Given the description of an element on the screen output the (x, y) to click on. 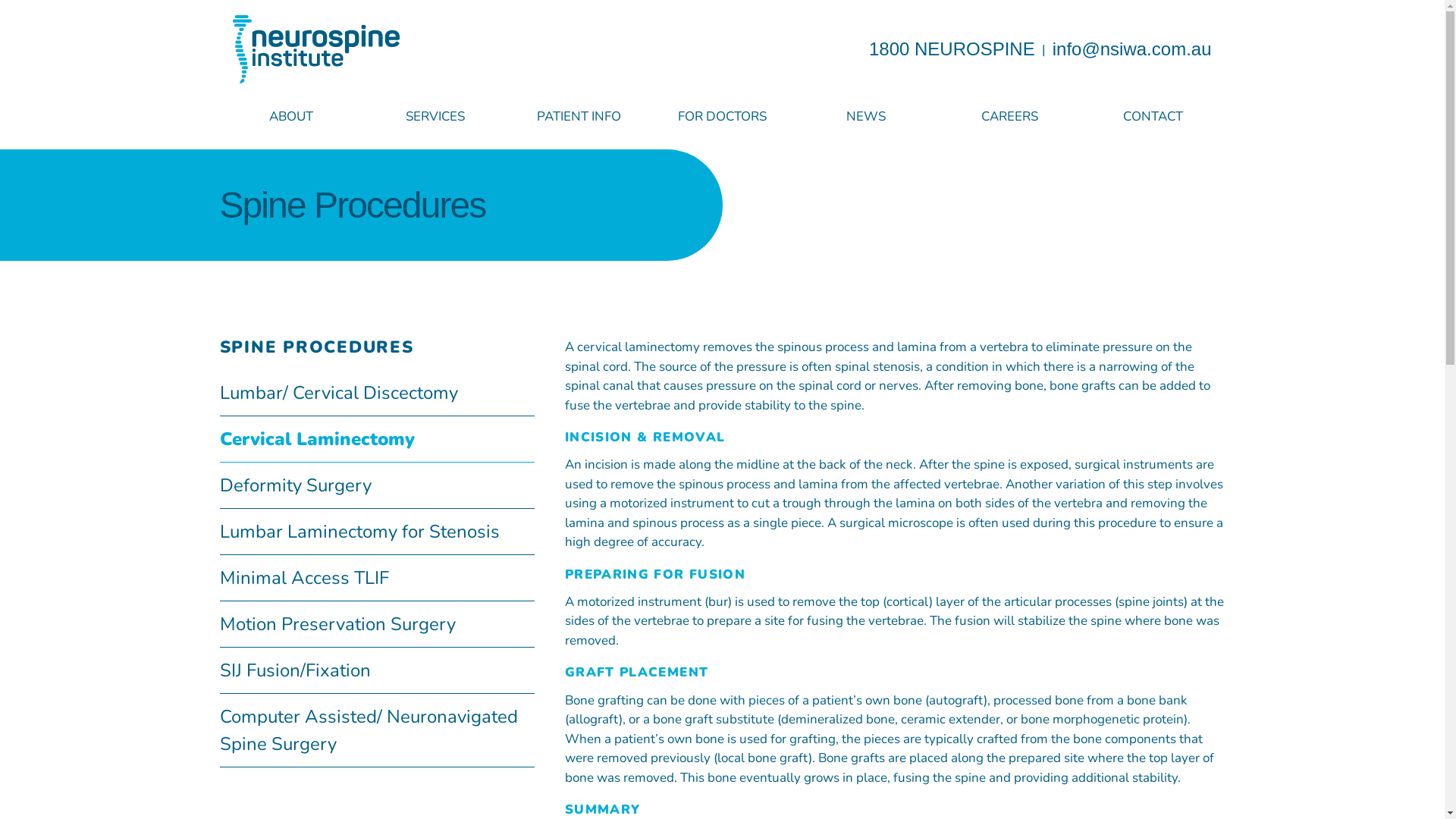
Lumbar Laminectomy for Stenosis Element type: text (376, 531)
info@nsiwa.com.au Element type: text (1131, 47)
FOR DOCTORS Element type: text (721, 116)
ABOUT Element type: text (291, 116)
Computer Assisted/ Neuronavigated Spine Surgery Element type: text (376, 730)
Spine Procedures Element type: text (352, 205)
SPINE PROCEDURES Element type: text (316, 346)
PATIENT INFO Element type: text (577, 116)
SERVICES Element type: text (434, 116)
NEWS Element type: text (865, 116)
Minimal Access TLIF Element type: text (376, 578)
SIJ Fusion/Fixation Element type: text (376, 670)
Cervical Laminectomy Element type: text (376, 439)
Deformity Surgery Element type: text (376, 485)
Lumbar/ Cervical Discectomy Element type: text (376, 393)
Motion Preservation Surgery Element type: text (376, 624)
CAREERS Element type: text (1009, 116)
1800 NEUROSPINE Element type: text (952, 47)
CONTACT Element type: text (1152, 116)
